Given the description of an element on the screen output the (x, y) to click on. 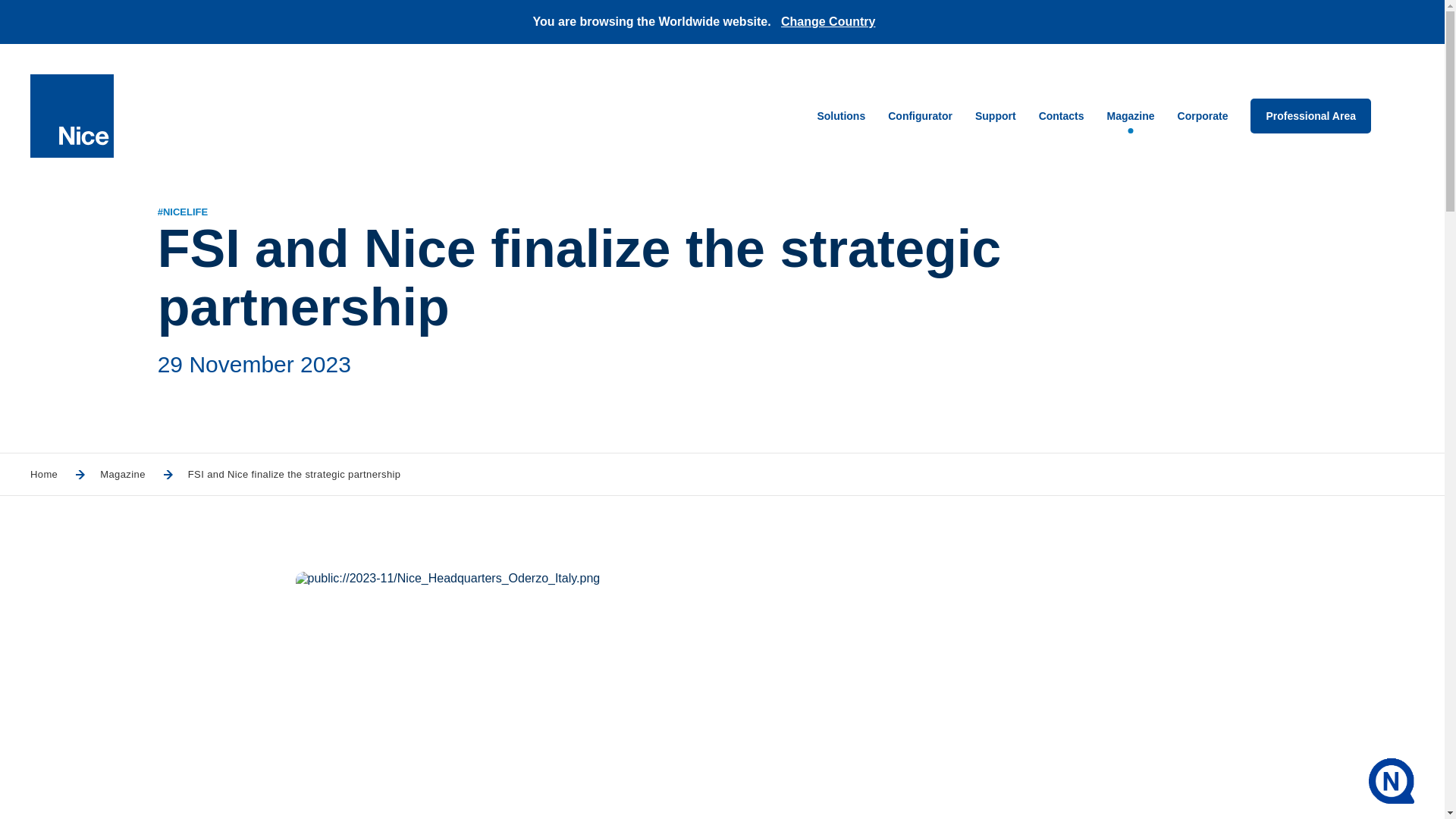
Contacts (1061, 115)
Magazine (122, 473)
Nice (71, 116)
Configurator (920, 115)
Magazine (122, 473)
Magazine (1130, 115)
Professional Area (1310, 115)
Home (44, 473)
Home (44, 473)
